Given the description of an element on the screen output the (x, y) to click on. 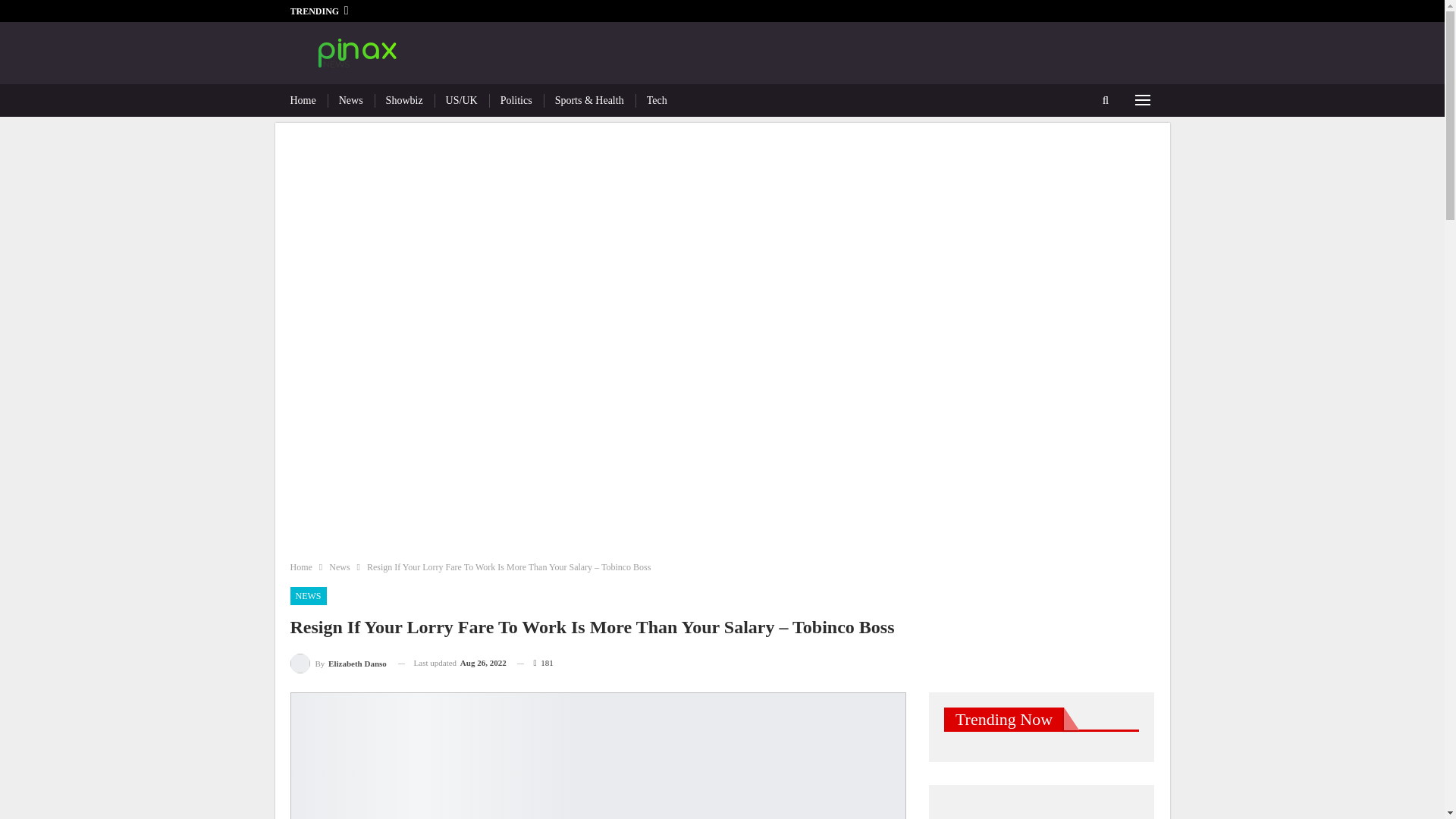
Politics (516, 100)
By Elizabeth Danso (337, 662)
Browse Author Articles (337, 662)
Showbiz (404, 100)
News (339, 566)
Home (300, 566)
NEWS (307, 596)
